Given the description of an element on the screen output the (x, y) to click on. 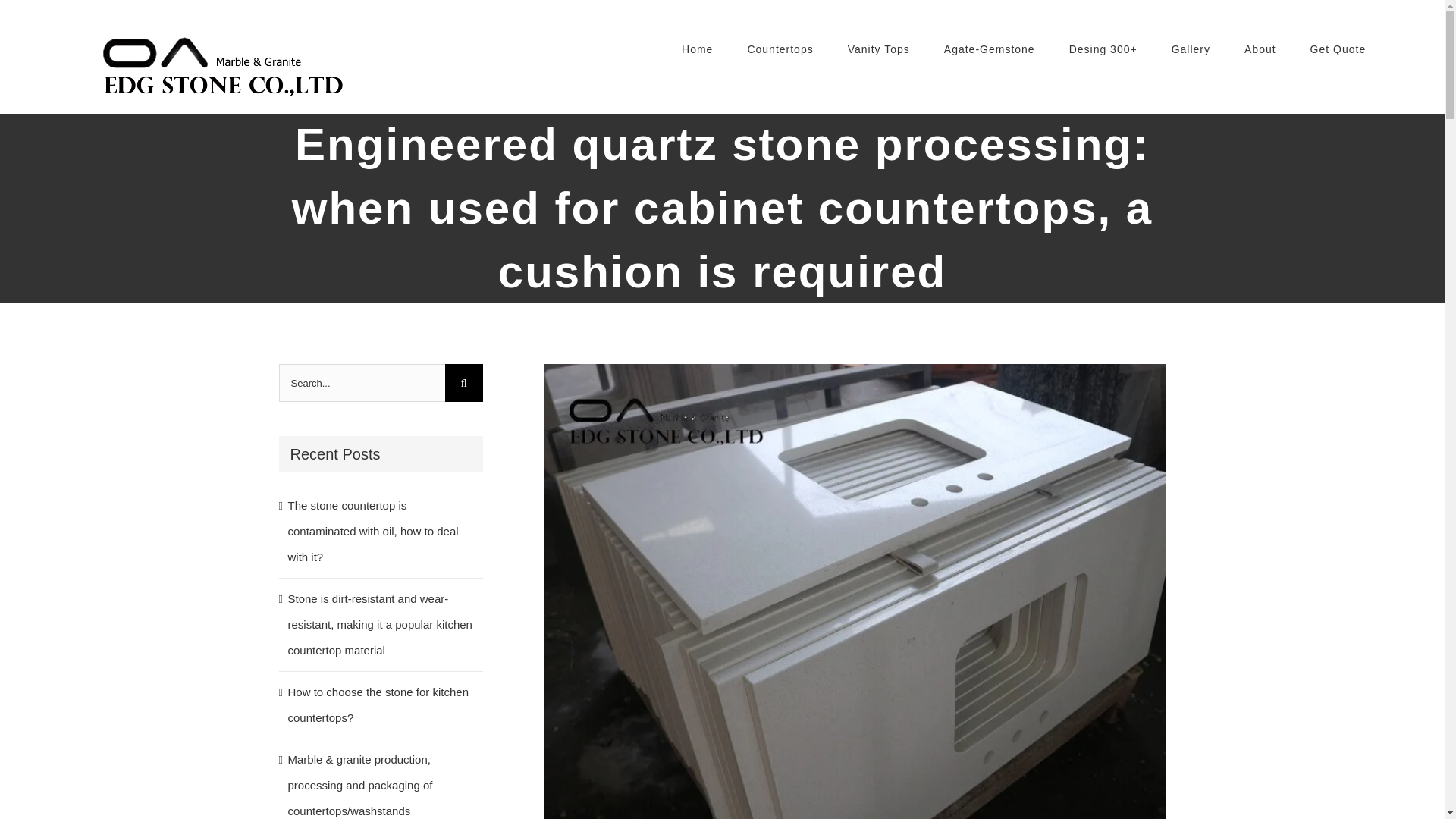
Agate-Gemstone (989, 49)
